Given the description of an element on the screen output the (x, y) to click on. 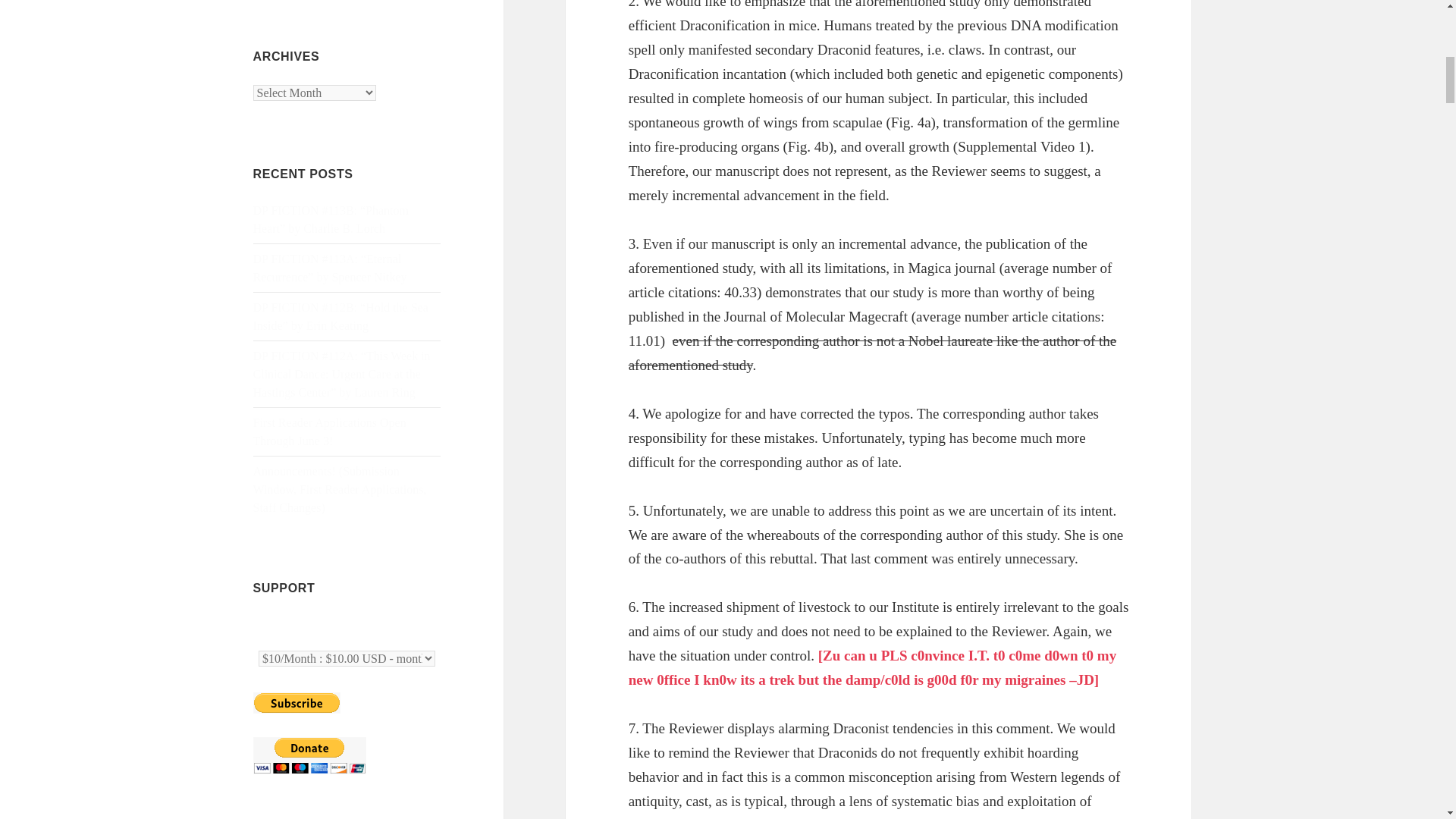
First Reader Applications Open Through June 3! (329, 431)
